Given the description of an element on the screen output the (x, y) to click on. 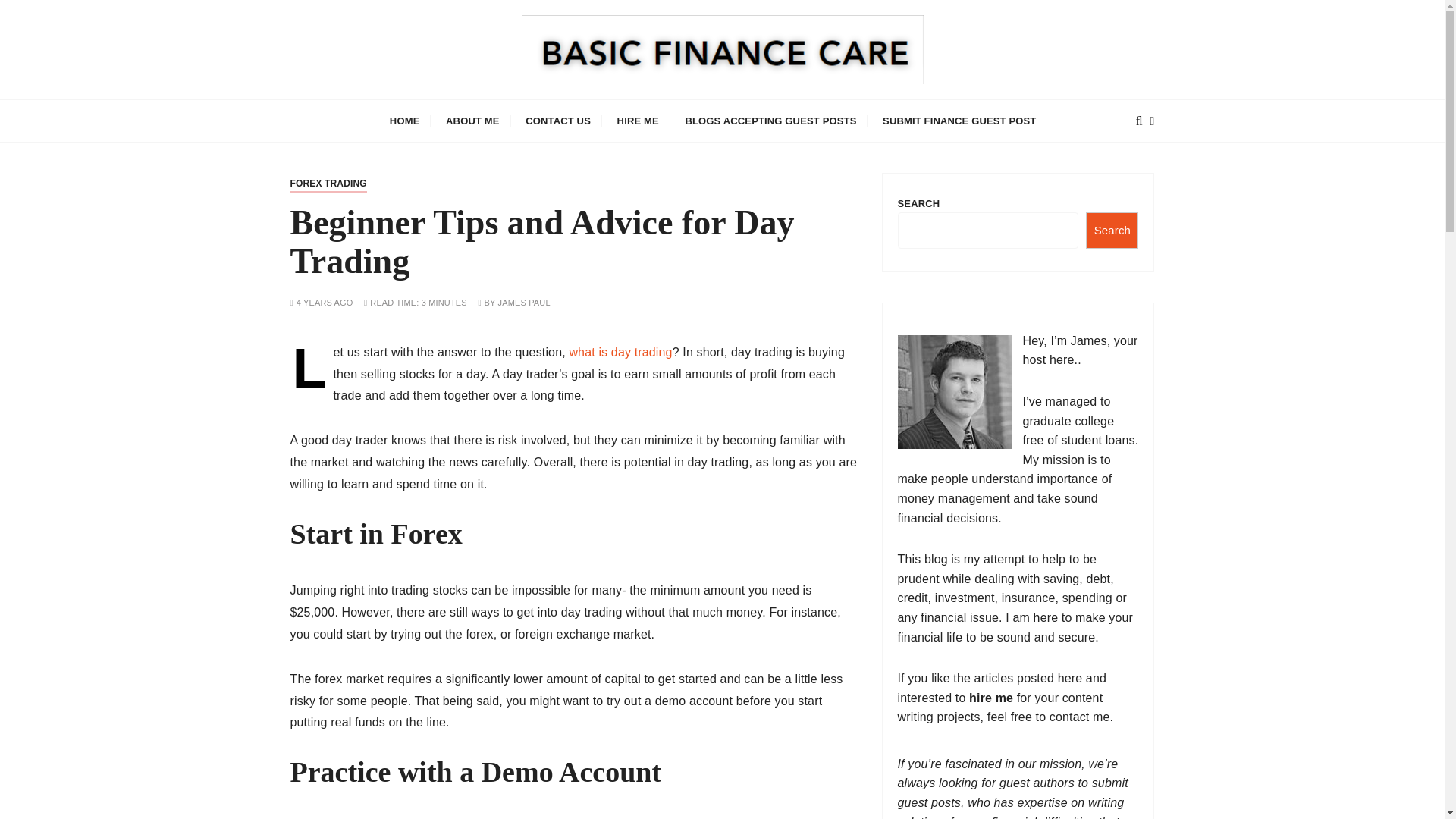
HOME (404, 120)
what is day trading (620, 351)
submit guest posts (1013, 792)
CONTACT US (557, 120)
SUBMIT FINANCE GUEST POST (958, 120)
Hire Me (991, 697)
hire me (991, 697)
Basic Finance Care (453, 109)
Search (1112, 230)
HIRE ME (637, 120)
JAMES PAUL (523, 302)
BLOGS ACCEPTING GUEST POSTS (769, 120)
ABOUT ME (472, 120)
FOREX TRADING (327, 183)
